Given the description of an element on the screen output the (x, y) to click on. 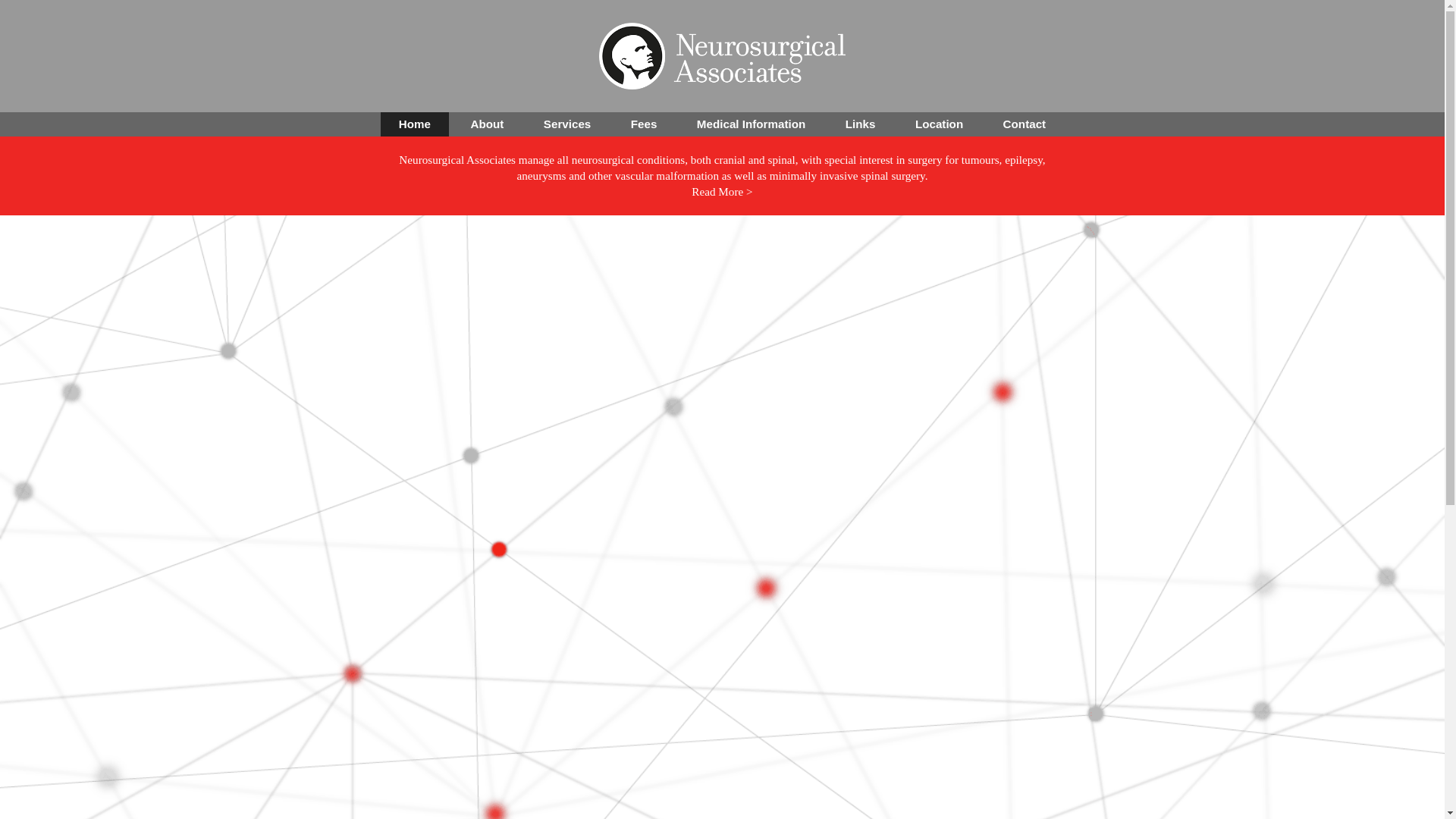
Medical Information Element type: text (750, 124)
Read More > Element type: text (721, 191)
Home Element type: text (414, 124)
Contact Element type: text (1024, 124)
Location Element type: text (939, 124)
About Element type: text (486, 124)
Links Element type: text (860, 124)
Fees Element type: text (643, 124)
Services Element type: text (567, 124)
